Given the description of an element on the screen output the (x, y) to click on. 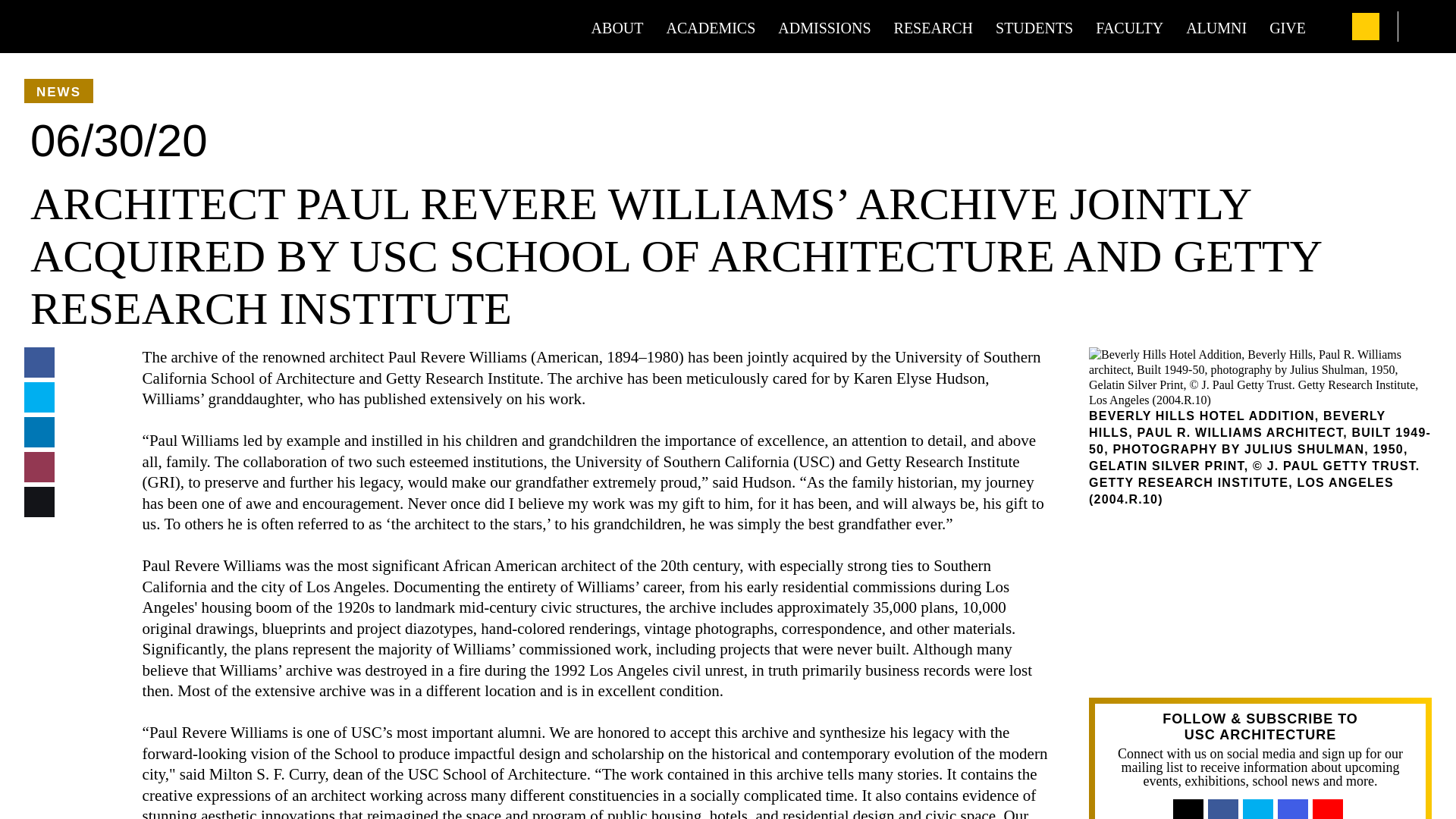
Share via Email (39, 467)
Copy Link to Clipboard (39, 501)
Subscribe to our mailing list (1194, 812)
Share on Twitter (39, 396)
Instagram (1299, 812)
YouTube (1334, 812)
Share on Facebook (39, 362)
Share on LinkedIn (39, 432)
Facebook (1222, 812)
ABOUT (617, 27)
ACADEMICS (711, 27)
Twitter (1264, 812)
